Given the description of an element on the screen output the (x, y) to click on. 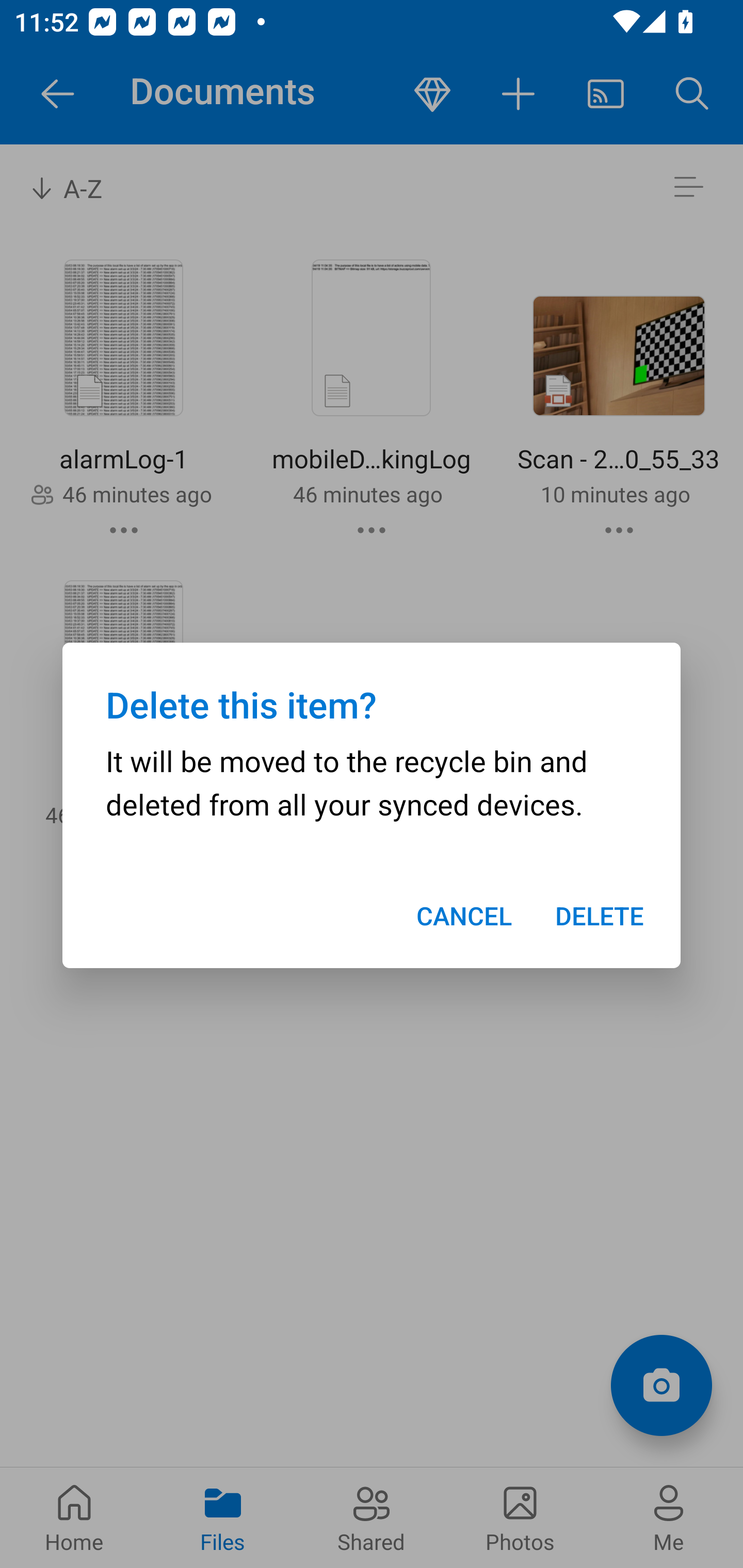
CANCEL (463, 915)
DELETE (599, 915)
